Given the description of an element on the screen output the (x, y) to click on. 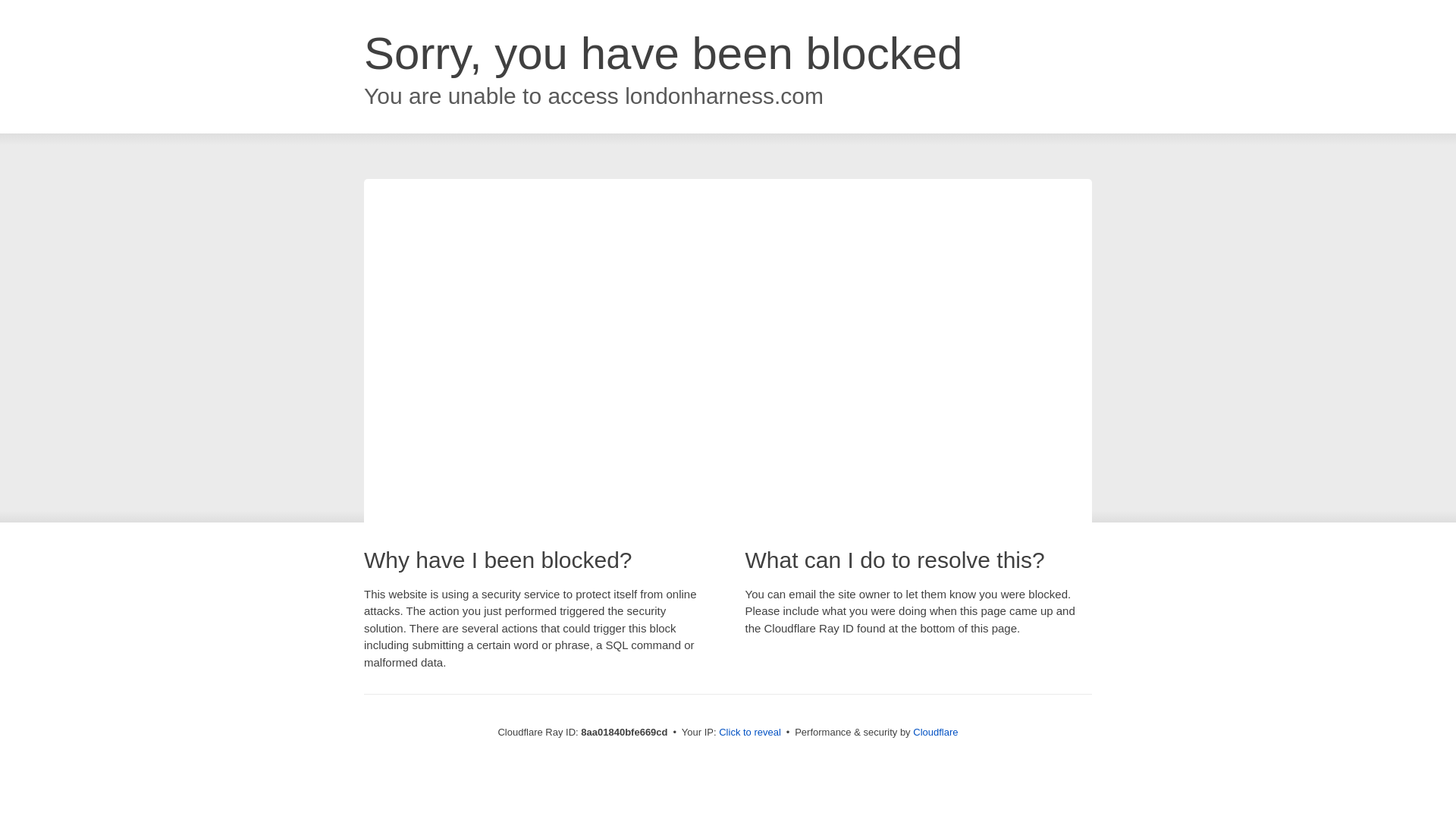
Cloudflare (935, 731)
Click to reveal (749, 732)
